Given the description of an element on the screen output the (x, y) to click on. 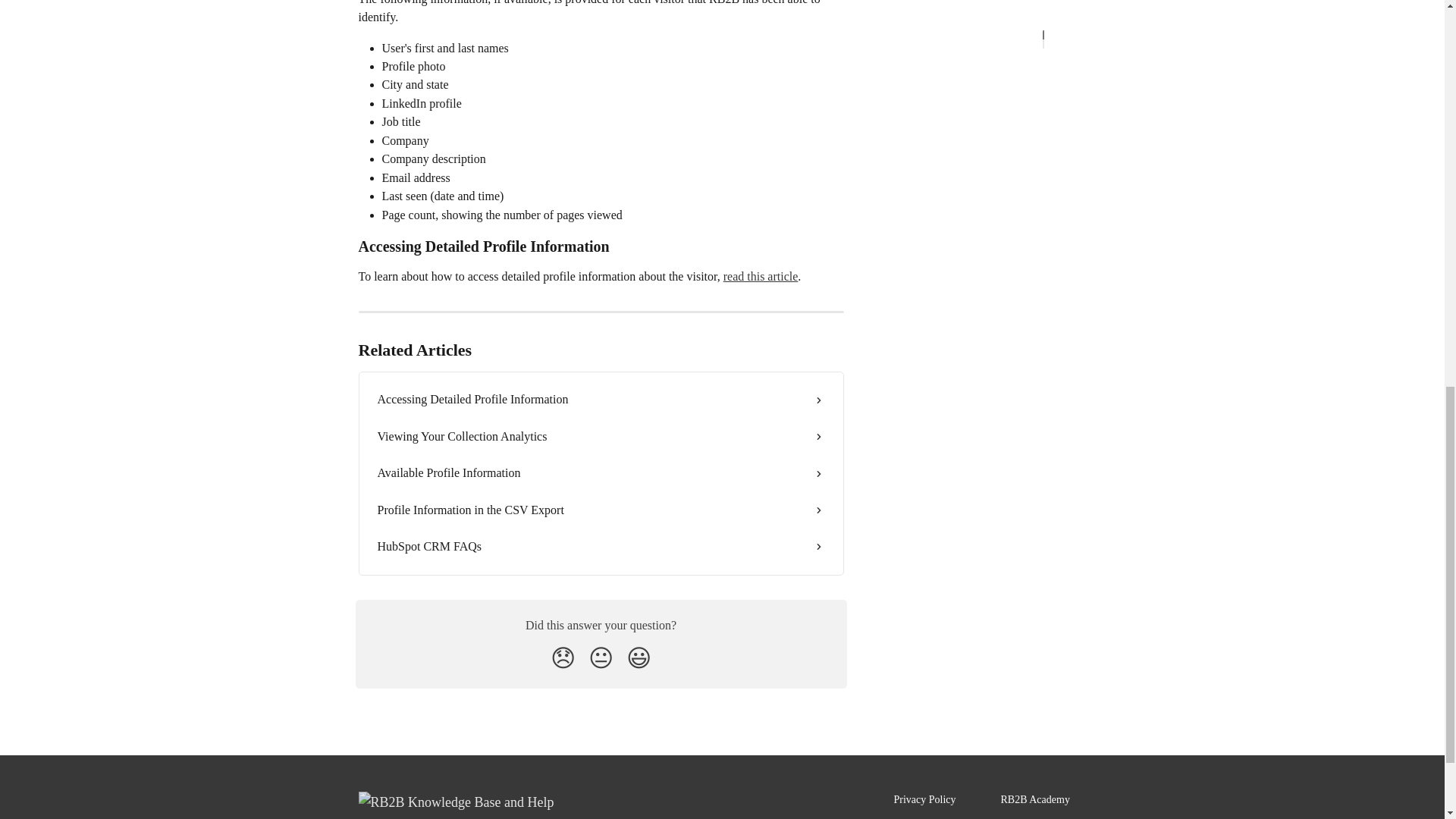
Disappointed (562, 657)
Accessing Detailed Profile Information (601, 399)
Neutral (600, 657)
Smiley (638, 657)
Privacy Policy (924, 799)
Viewing Your Collection Analytics (601, 436)
Profile Information in the CSV Export (601, 510)
read this article (760, 276)
Available Profile Information (601, 473)
HubSpot CRM FAQs (601, 546)
